Given the description of an element on the screen output the (x, y) to click on. 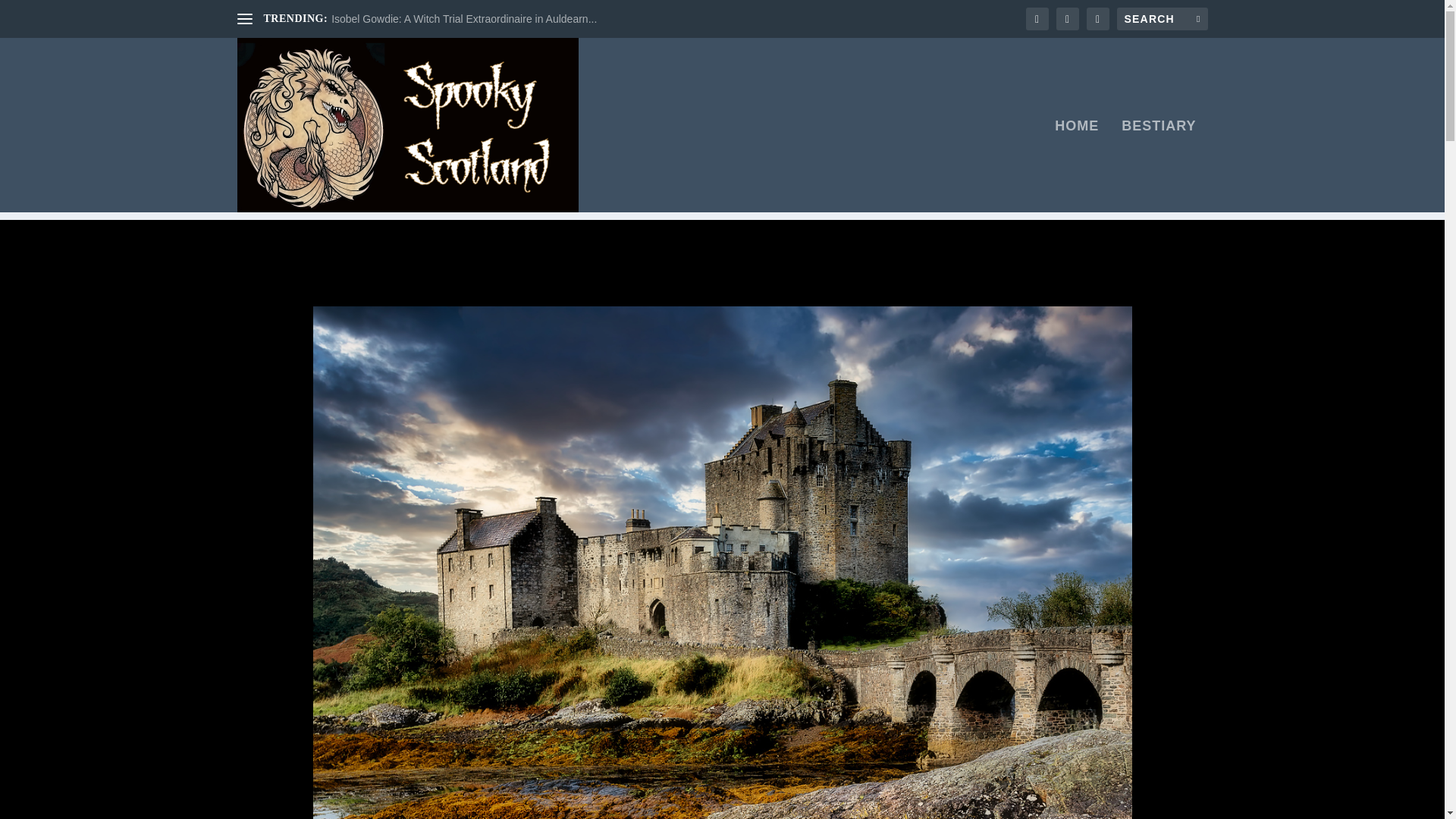
BESTIARY (1158, 165)
Search for: (1161, 18)
HOME (1076, 165)
BESTIARY (1158, 165)
Isobel Gowdie: A Witch Trial Extraordinaire in Auldearn... (463, 19)
